Given the description of an element on the screen output the (x, y) to click on. 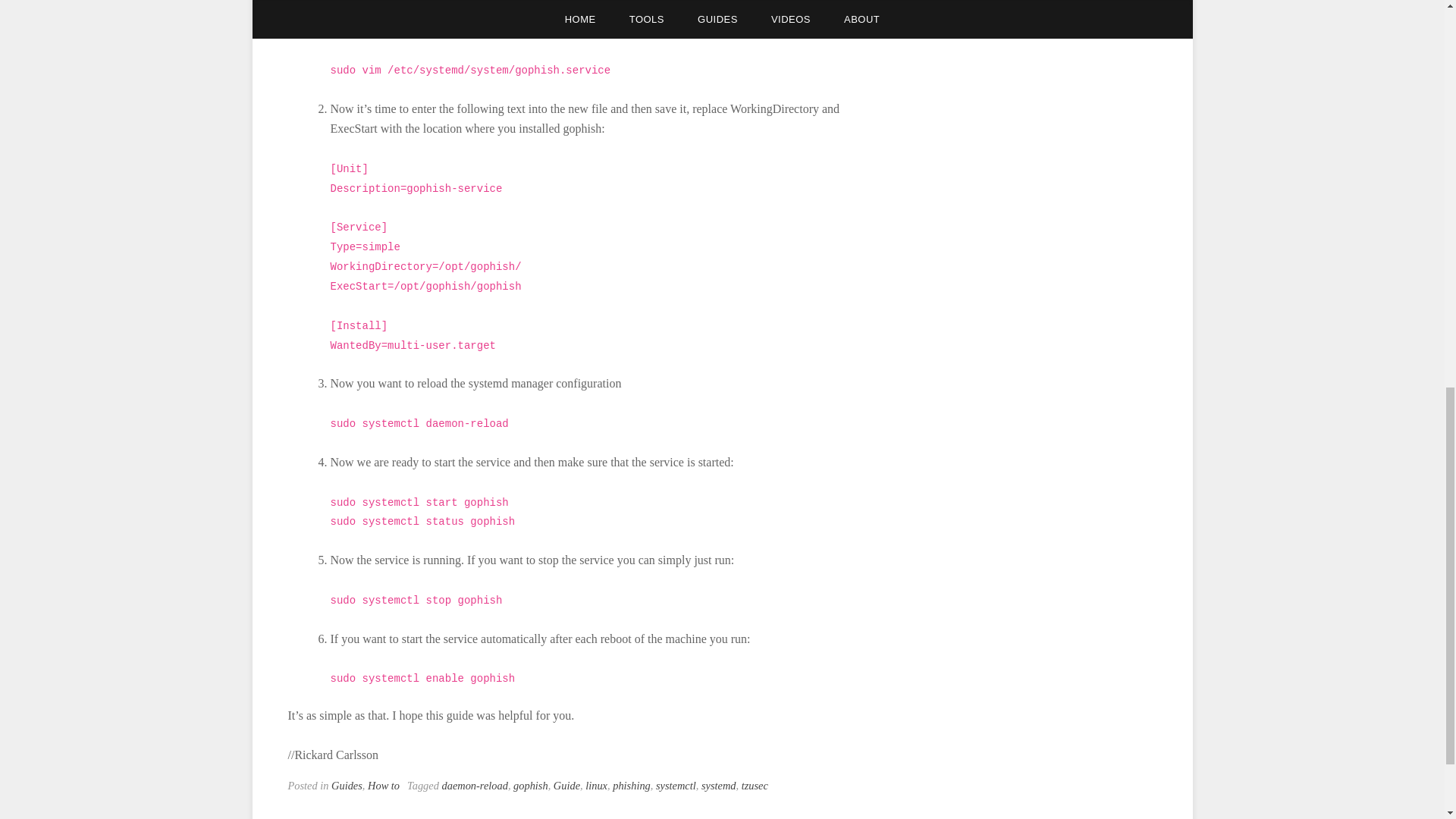
Guides (346, 785)
How to (383, 785)
daemon-reload (473, 785)
